Given the description of an element on the screen output the (x, y) to click on. 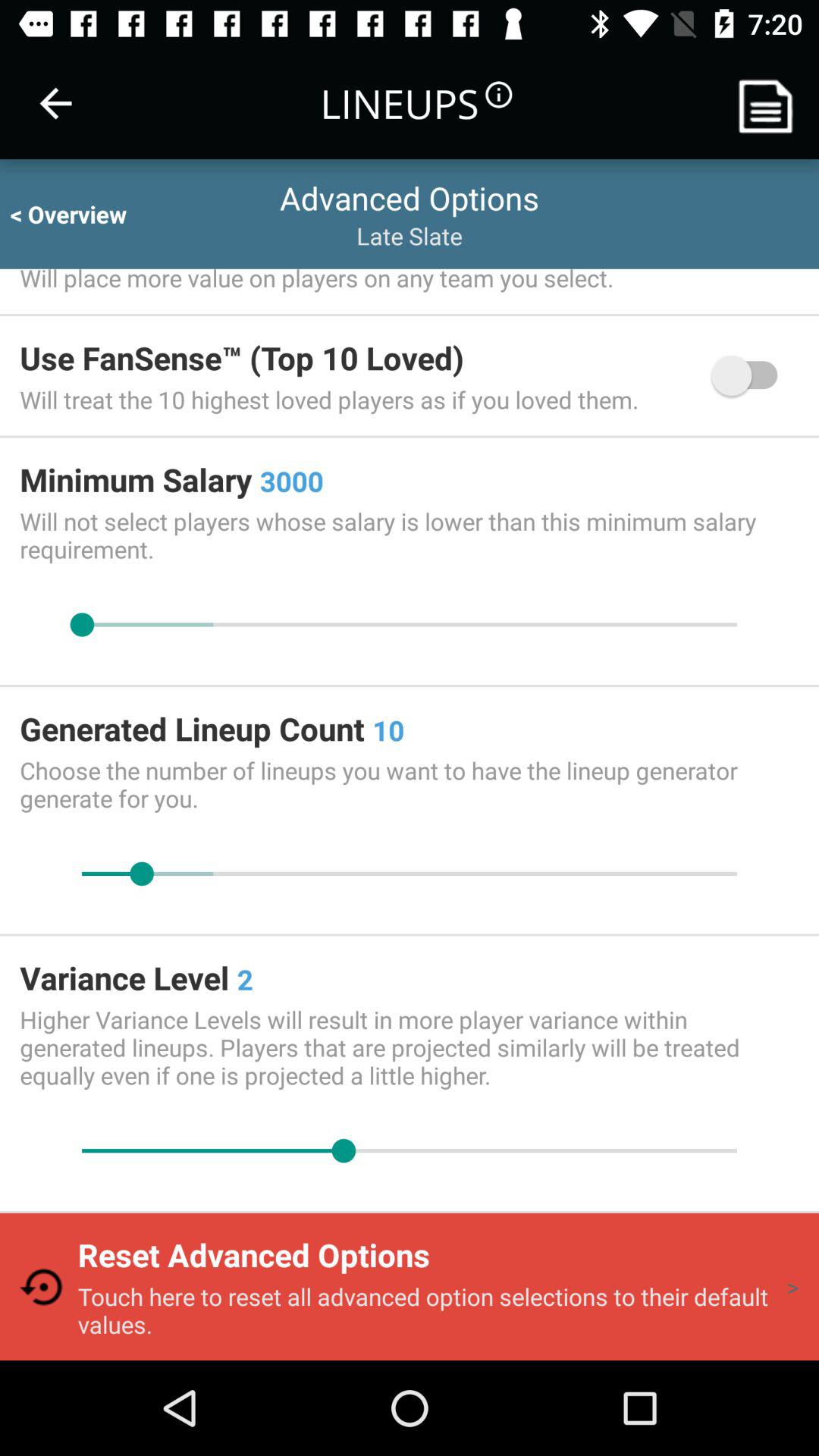
press item to the left of lineups (55, 103)
